Given the description of an element on the screen output the (x, y) to click on. 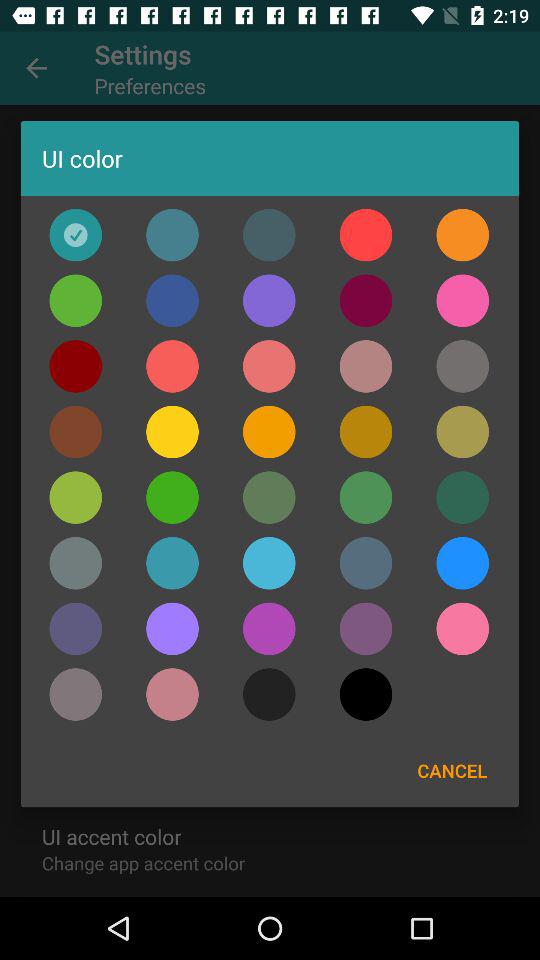
select color (75, 563)
